Given the description of an element on the screen output the (x, y) to click on. 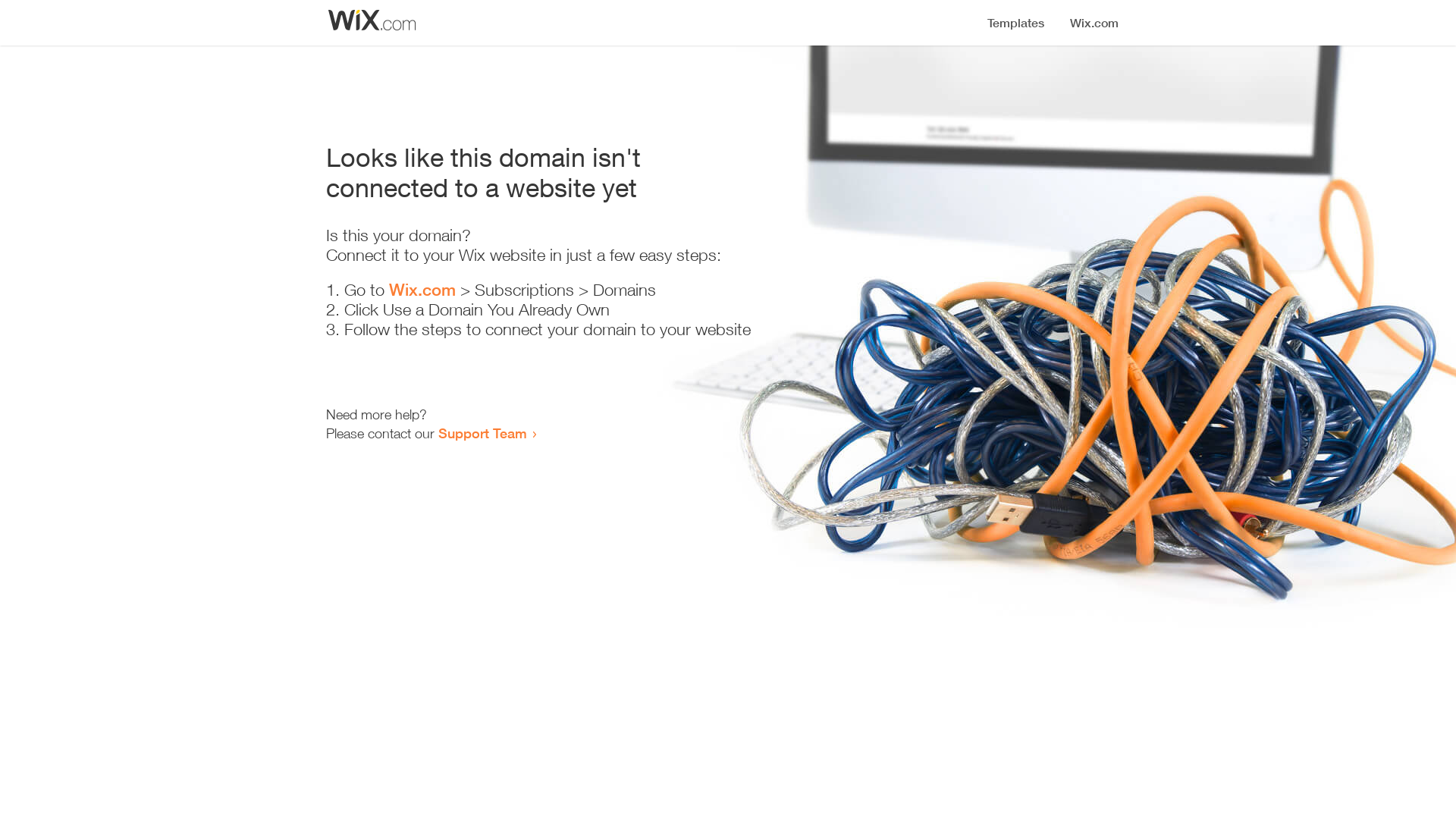
Support Team Element type: text (482, 432)
Wix.com Element type: text (422, 289)
